Given the description of an element on the screen output the (x, y) to click on. 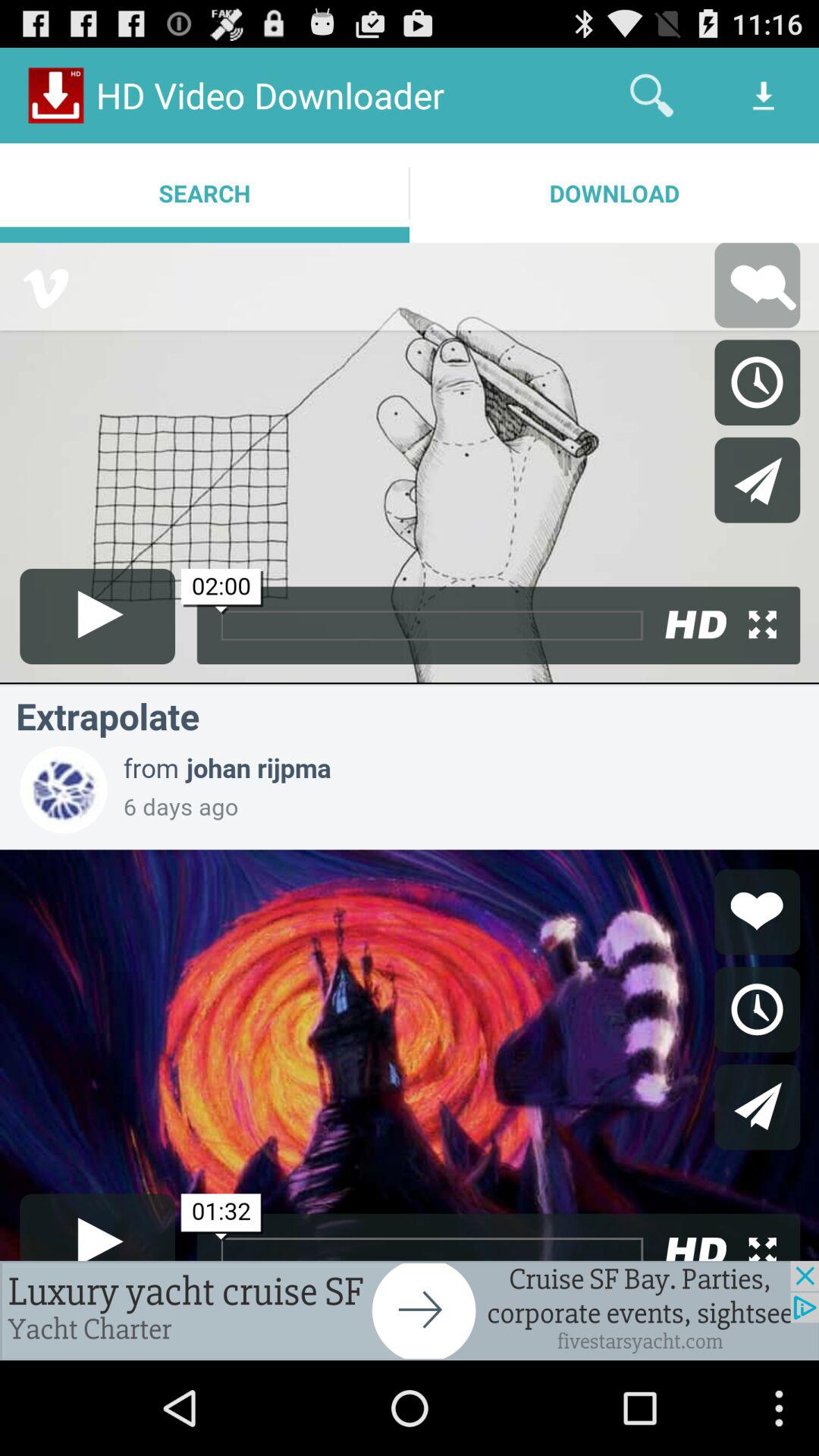
press icon below the search (409, 1310)
